Given the description of an element on the screen output the (x, y) to click on. 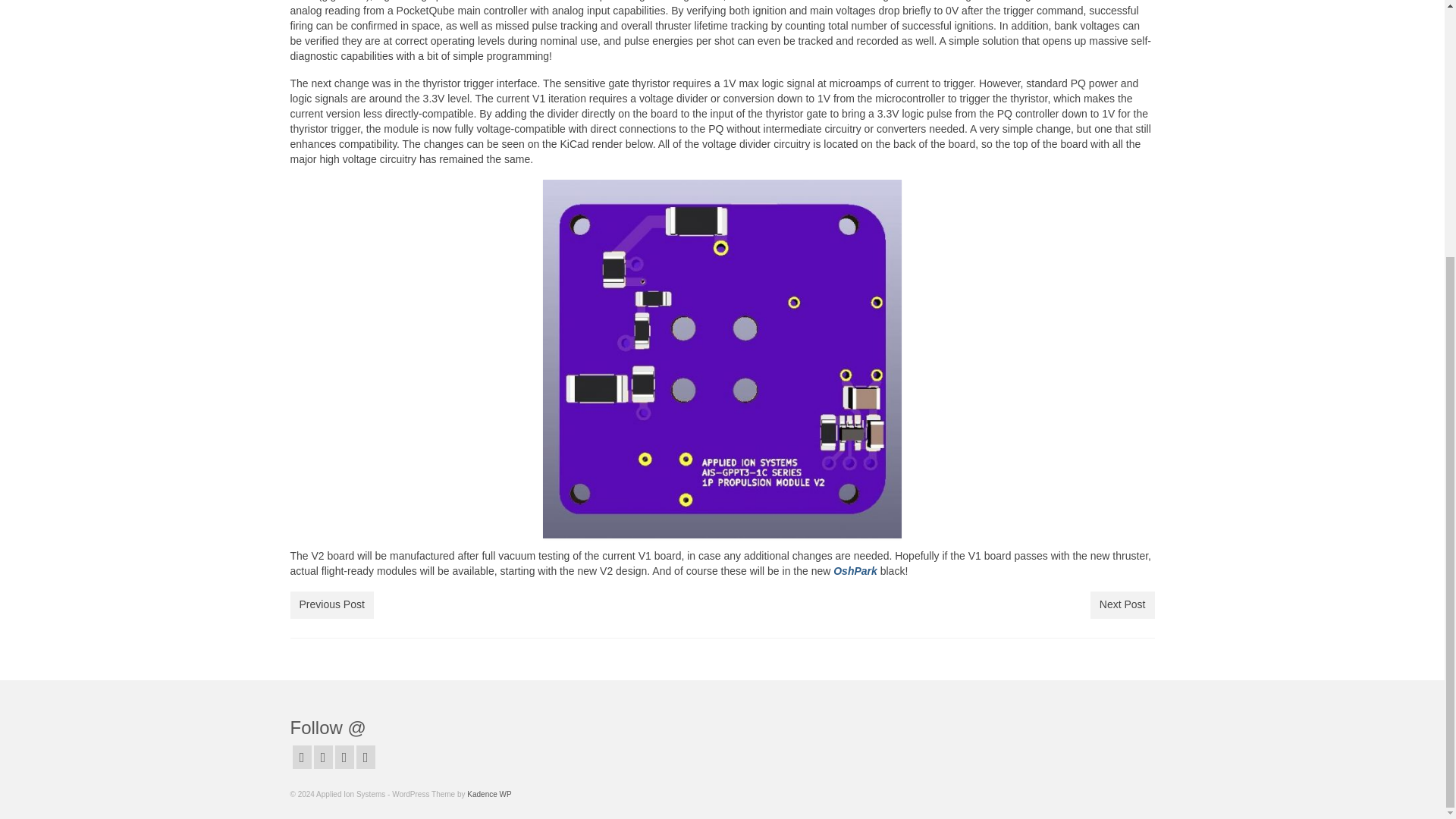
Previous Post (330, 605)
OshPark (854, 571)
Next Post (1122, 605)
